Given the description of an element on the screen output the (x, y) to click on. 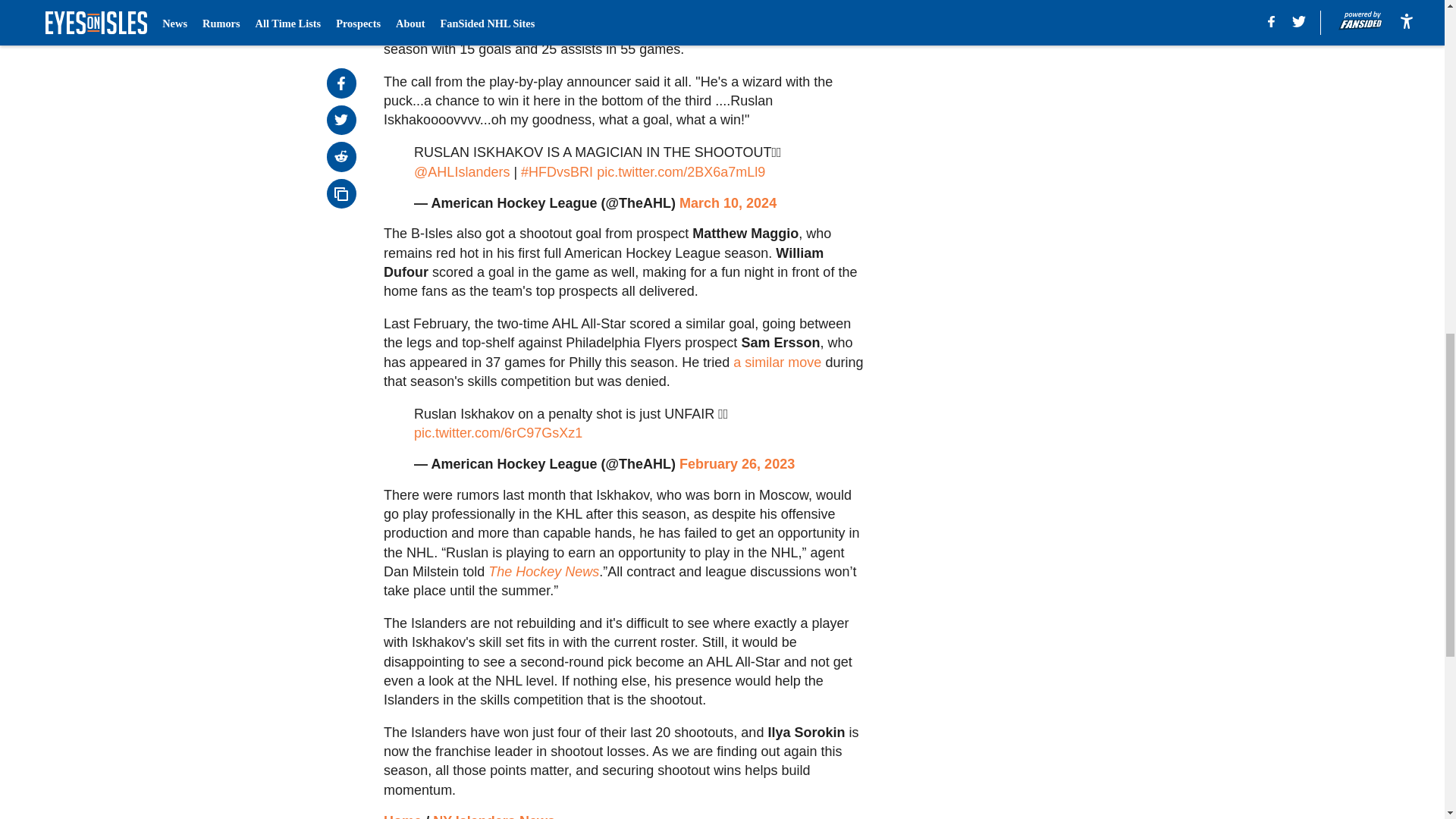
Home (403, 816)
a similar move (777, 362)
The Hockey News (542, 571)
March 10, 2024 (727, 202)
NY Islanders News (493, 816)
February 26, 2023 (736, 463)
